Given the description of an element on the screen output the (x, y) to click on. 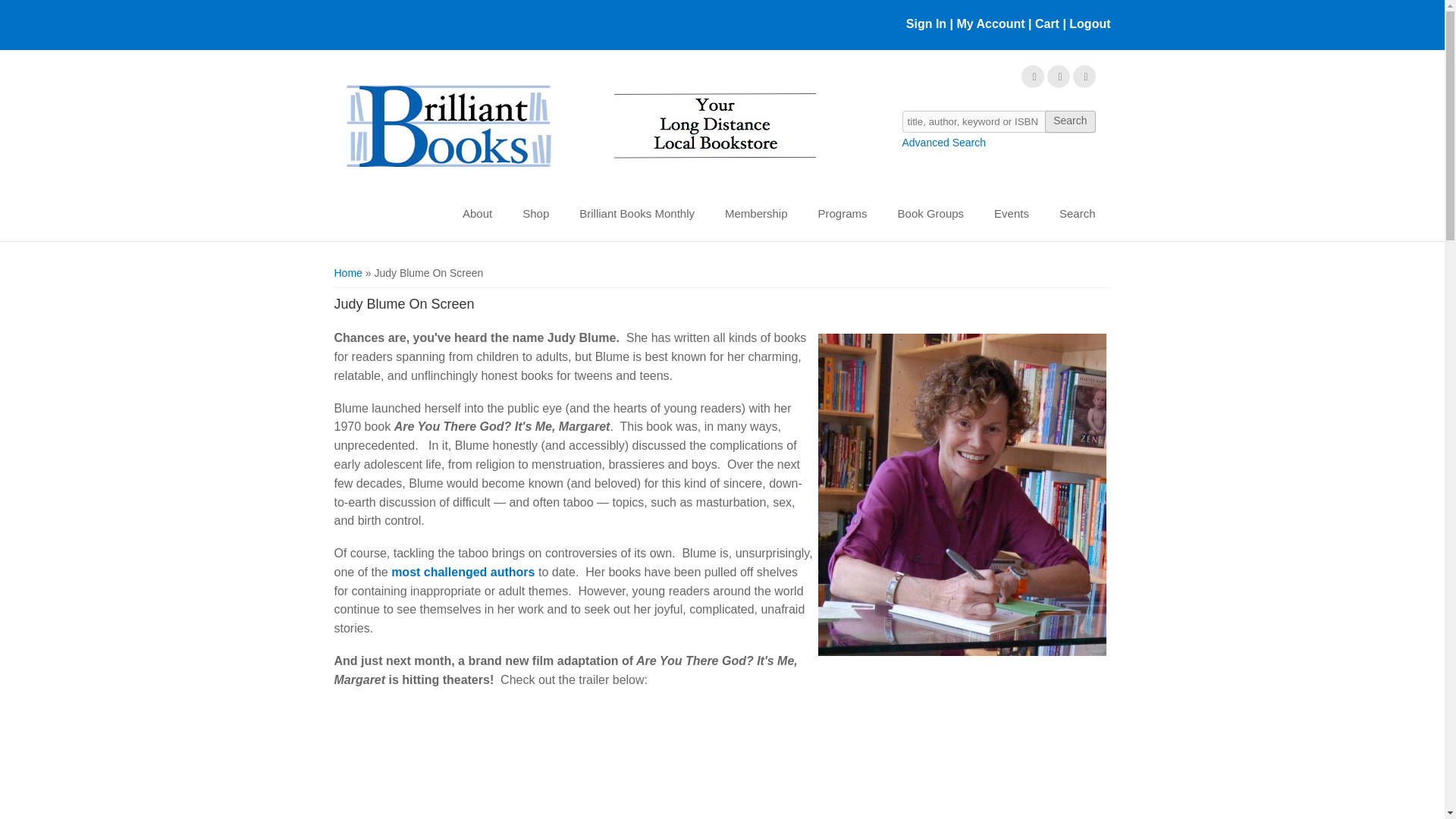
Cart (1047, 23)
Home (579, 127)
Advanced Search (944, 142)
Enter the terms you wish to search for. (999, 121)
About (476, 213)
My Account (990, 23)
Sign In (925, 23)
Shop (535, 213)
Logout (1087, 23)
Search (1069, 121)
